Given the description of an element on the screen output the (x, y) to click on. 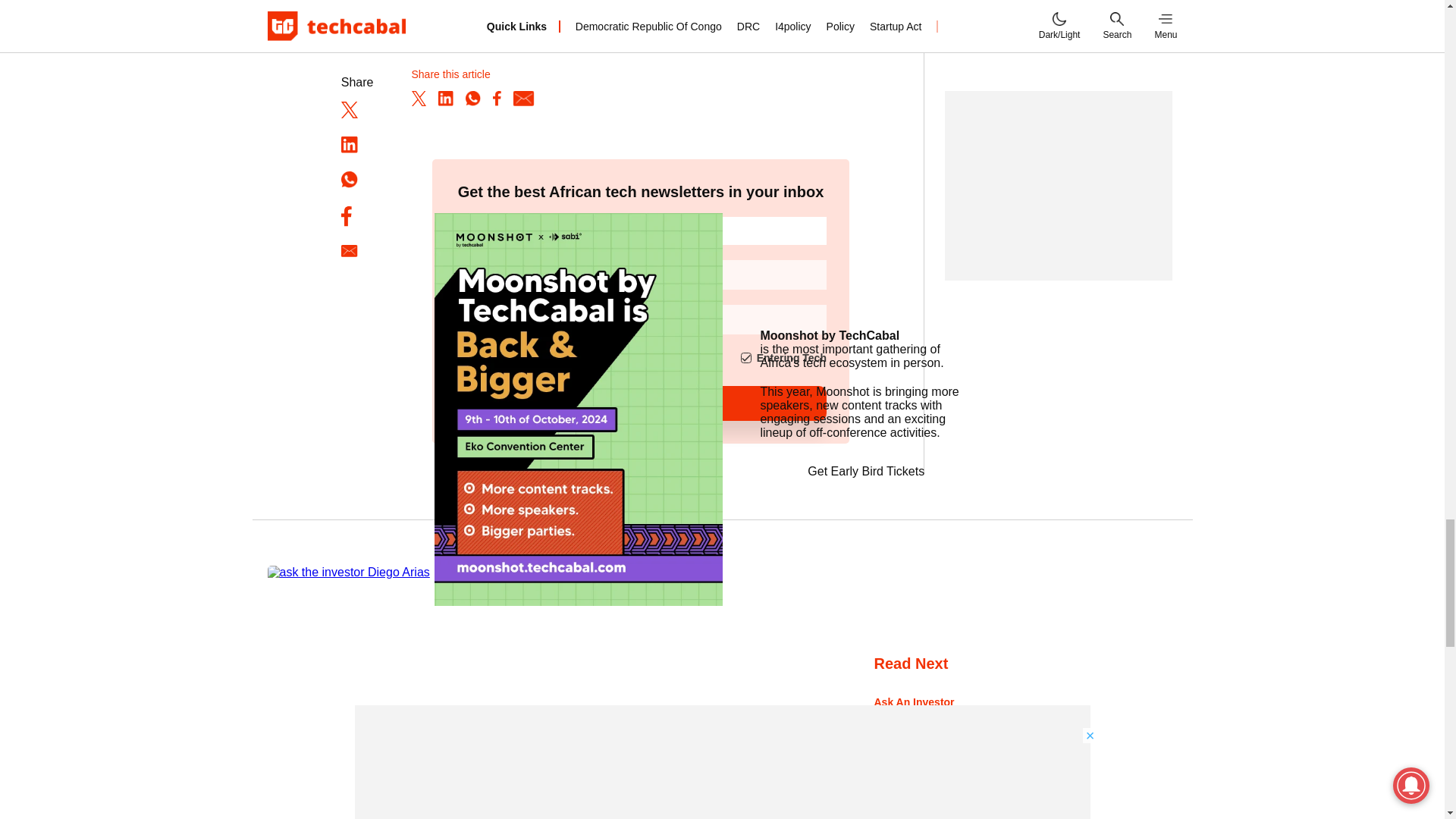
Posts by Daniel Adeyemi (904, 757)
